Given the description of an element on the screen output the (x, y) to click on. 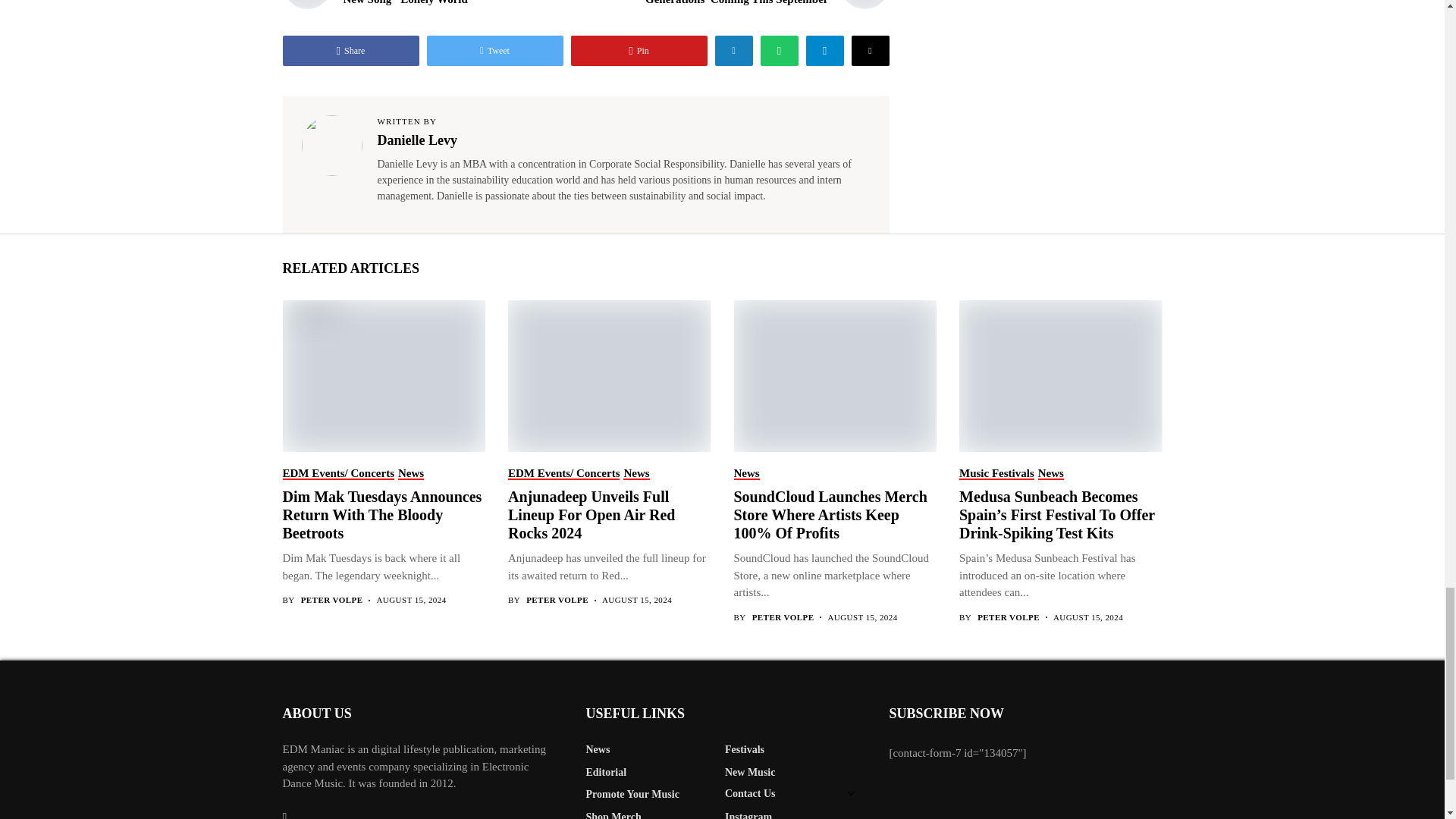
Posts by Peter Volpe (556, 600)
Posts by Peter Volpe (782, 617)
Posts by Peter Volpe (331, 600)
Posts by Peter Volpe (1007, 617)
